Given the description of an element on the screen output the (x, y) to click on. 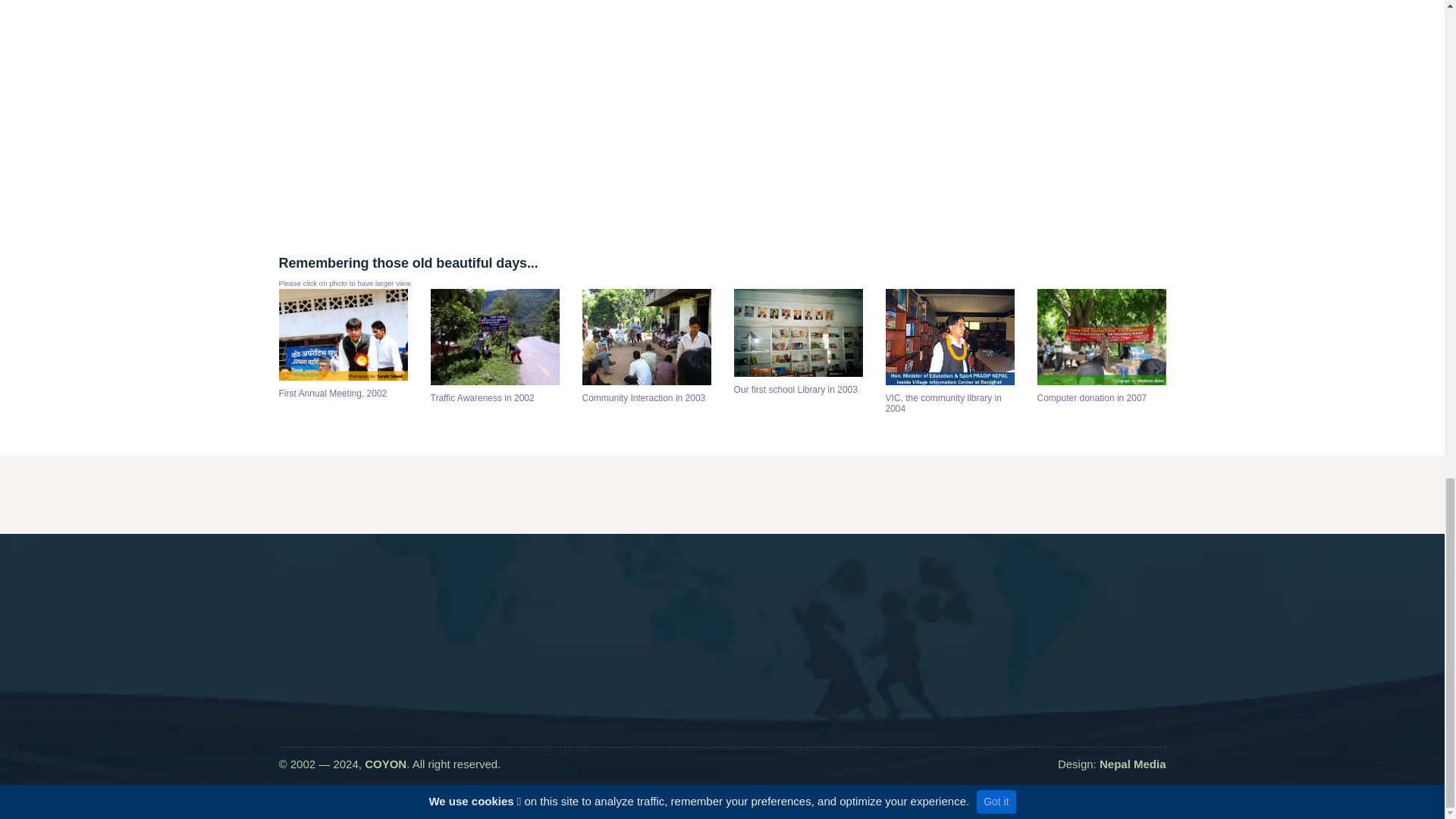
Computer donation in 2007 (1101, 339)
First Annual Meeting of COYON in 2002 (343, 337)
Nepal Media Network (1132, 763)
Community Interaction in 2003. (646, 339)
Our first work, Traffic awareness - 2002. (494, 339)
Village Information Center 2006. (949, 339)
First School library in 2003. (798, 335)
